Given the description of an element on the screen output the (x, y) to click on. 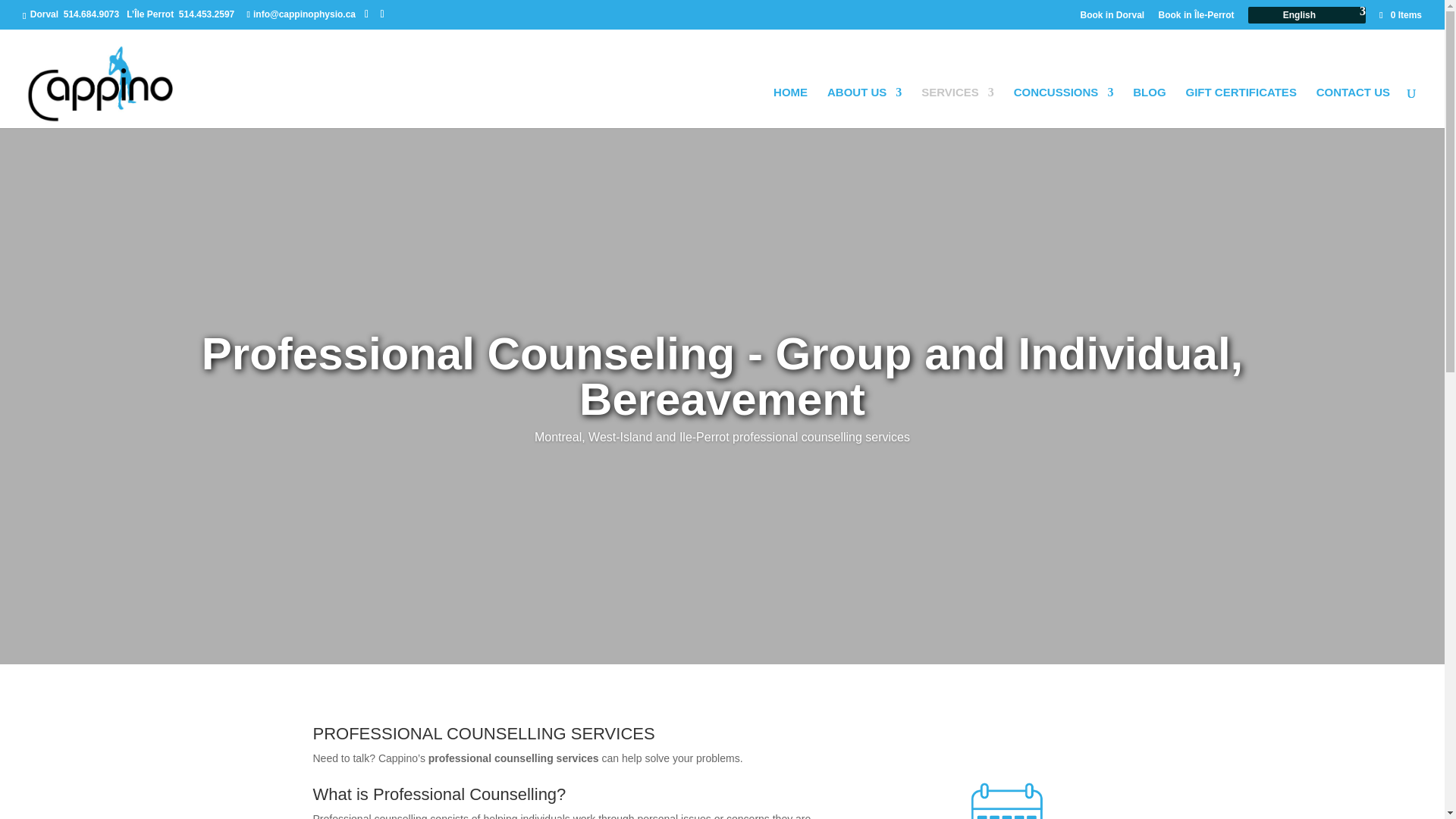
514.453.2597 (206, 14)
0 Items (1399, 14)
SERVICES (957, 106)
514.684.9073 (91, 14)
CONCUSSIONS (1063, 106)
English (1306, 14)
English (1306, 14)
ABOUT US (864, 106)
Book in Dorval (1112, 14)
